Given the description of an element on the screen output the (x, y) to click on. 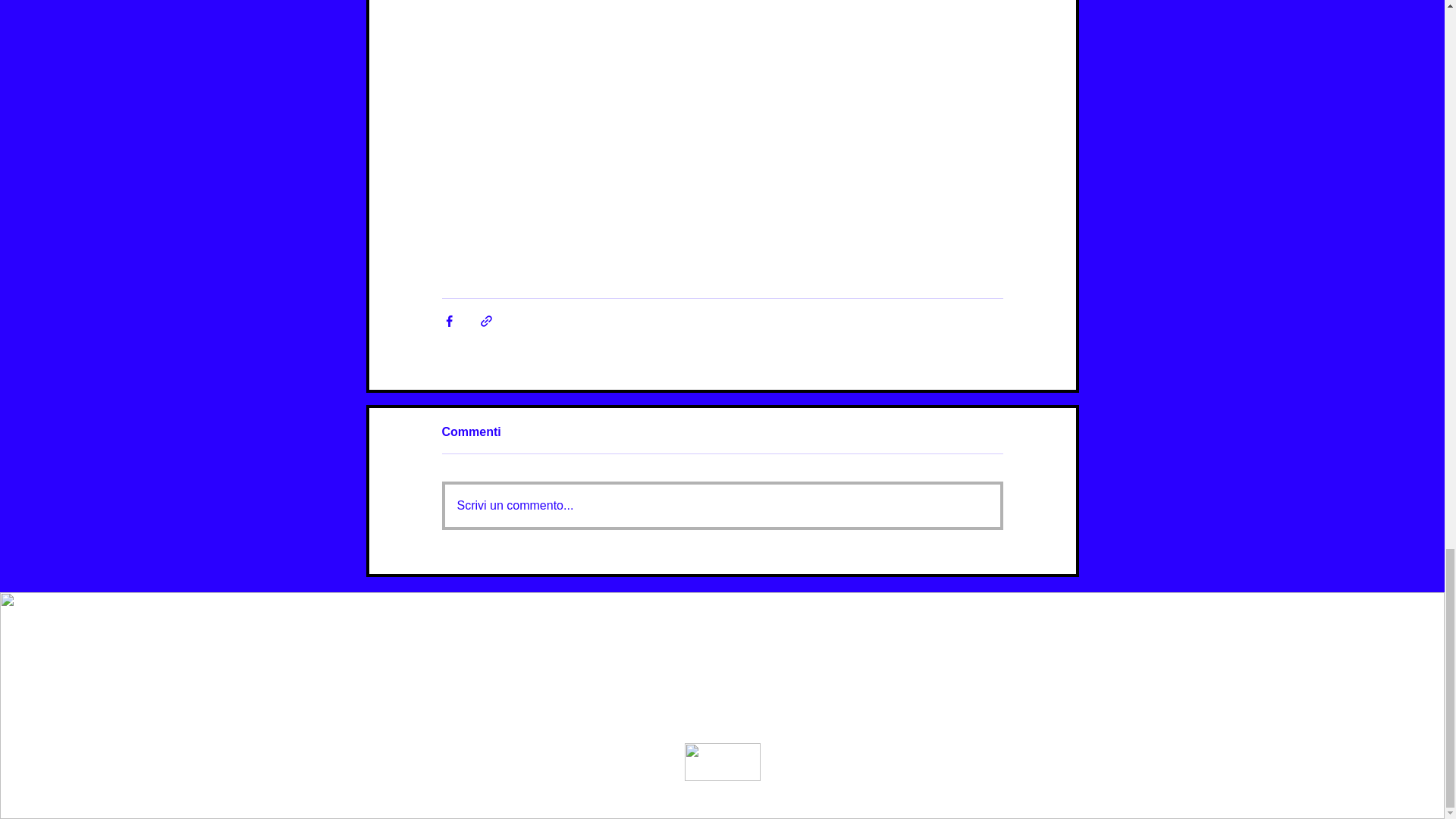
Scrivi un commento... (721, 505)
